Given the description of an element on the screen output the (x, y) to click on. 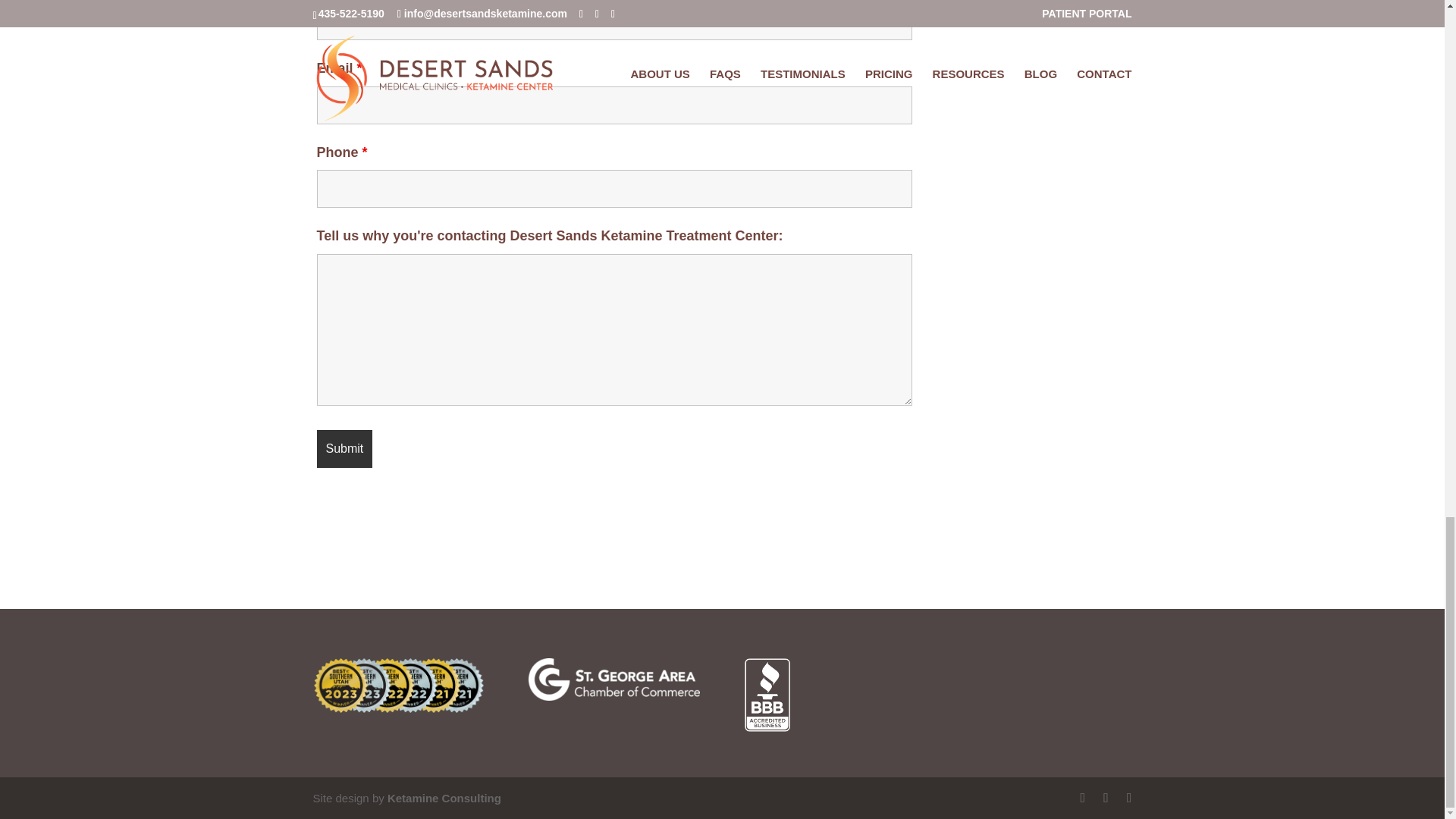
Submit (344, 448)
Ketamine Consulting (443, 797)
Submit (344, 448)
